Given the description of an element on the screen output the (x, y) to click on. 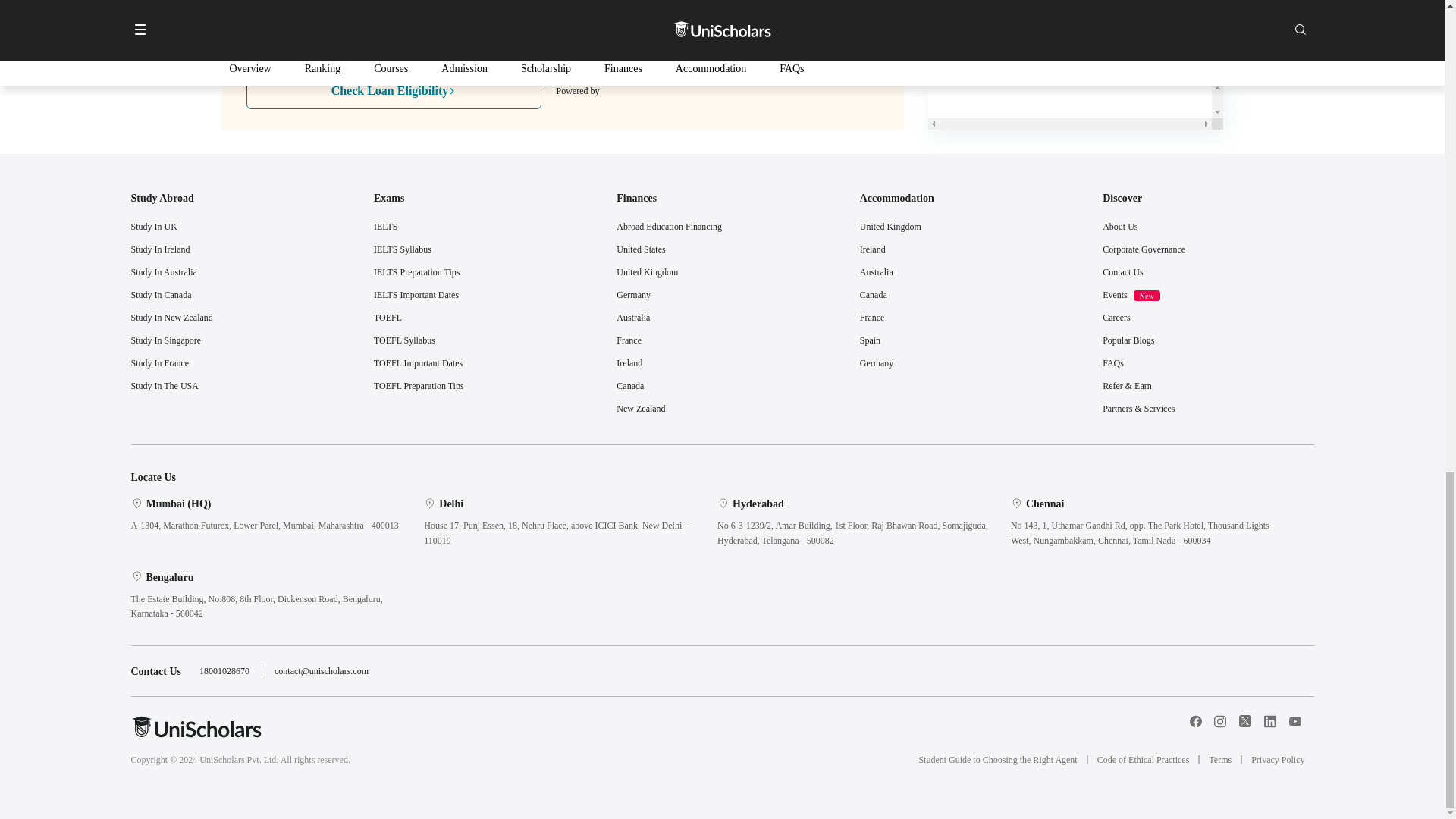
Check Loan Eligibility (393, 90)
